Given the description of an element on the screen output the (x, y) to click on. 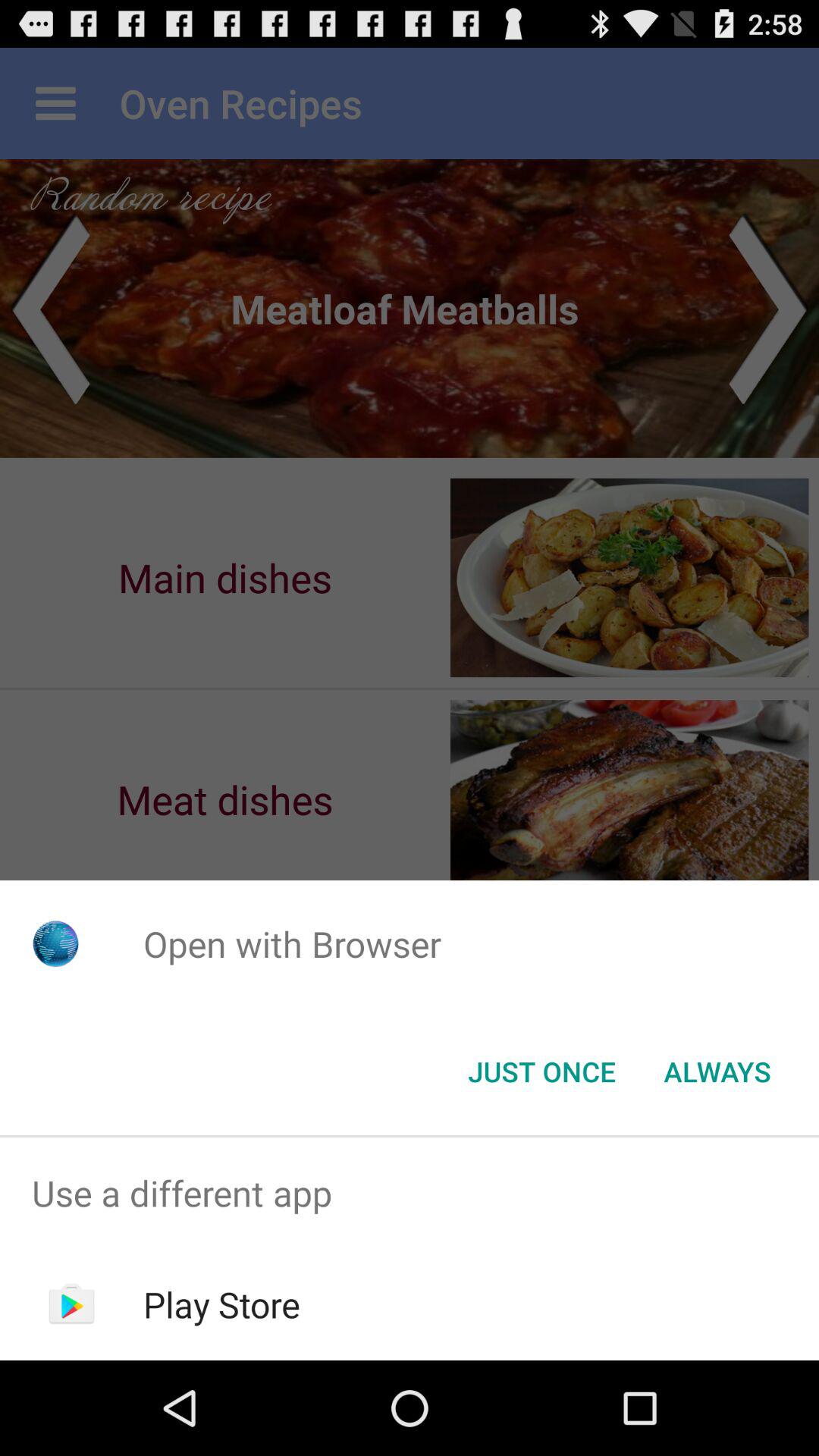
select app above the play store (409, 1192)
